Given the description of an element on the screen output the (x, y) to click on. 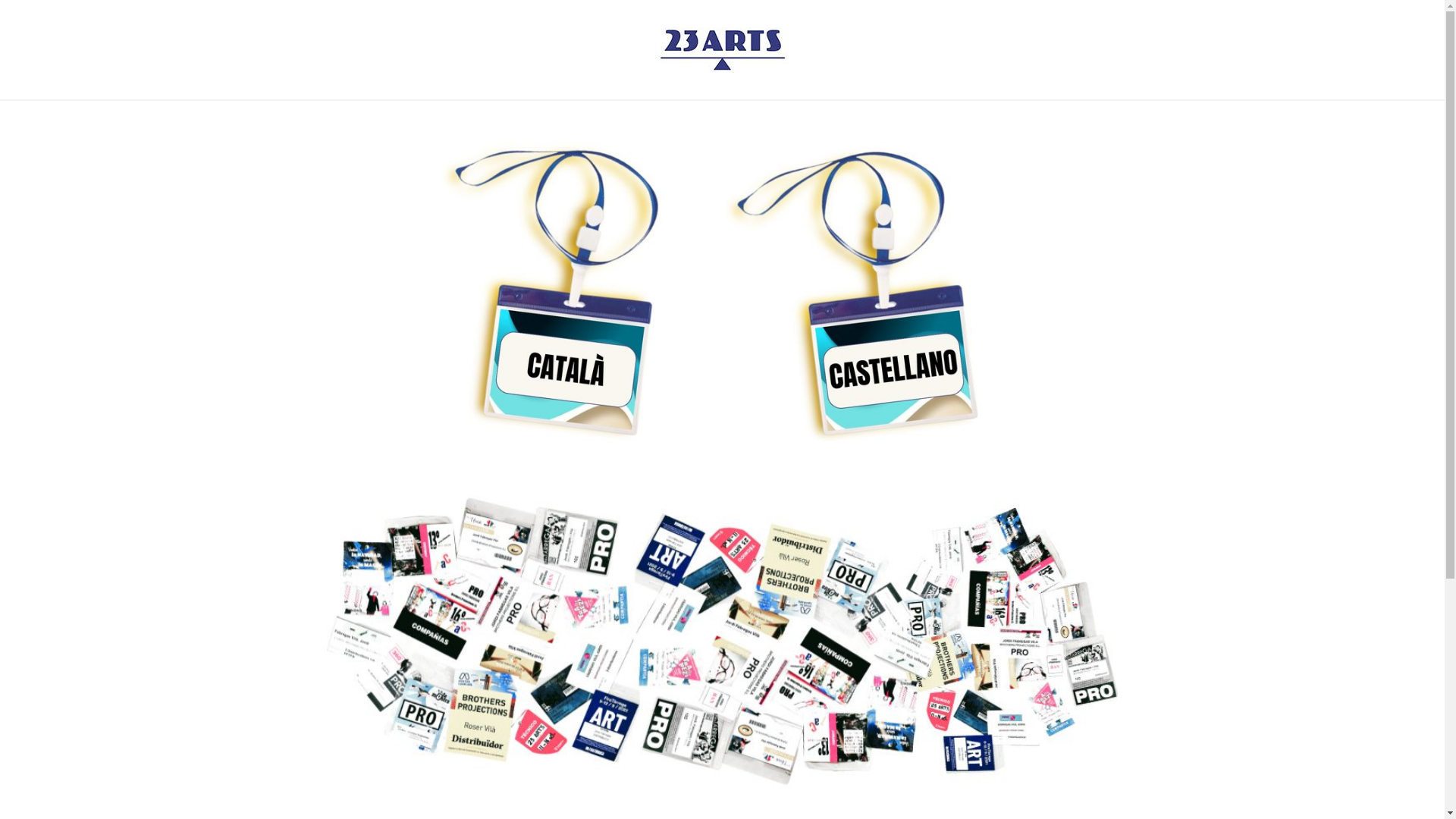
Saltar al contenido principal Element type: text (0, 0)
